Given the description of an element on the screen output the (x, y) to click on. 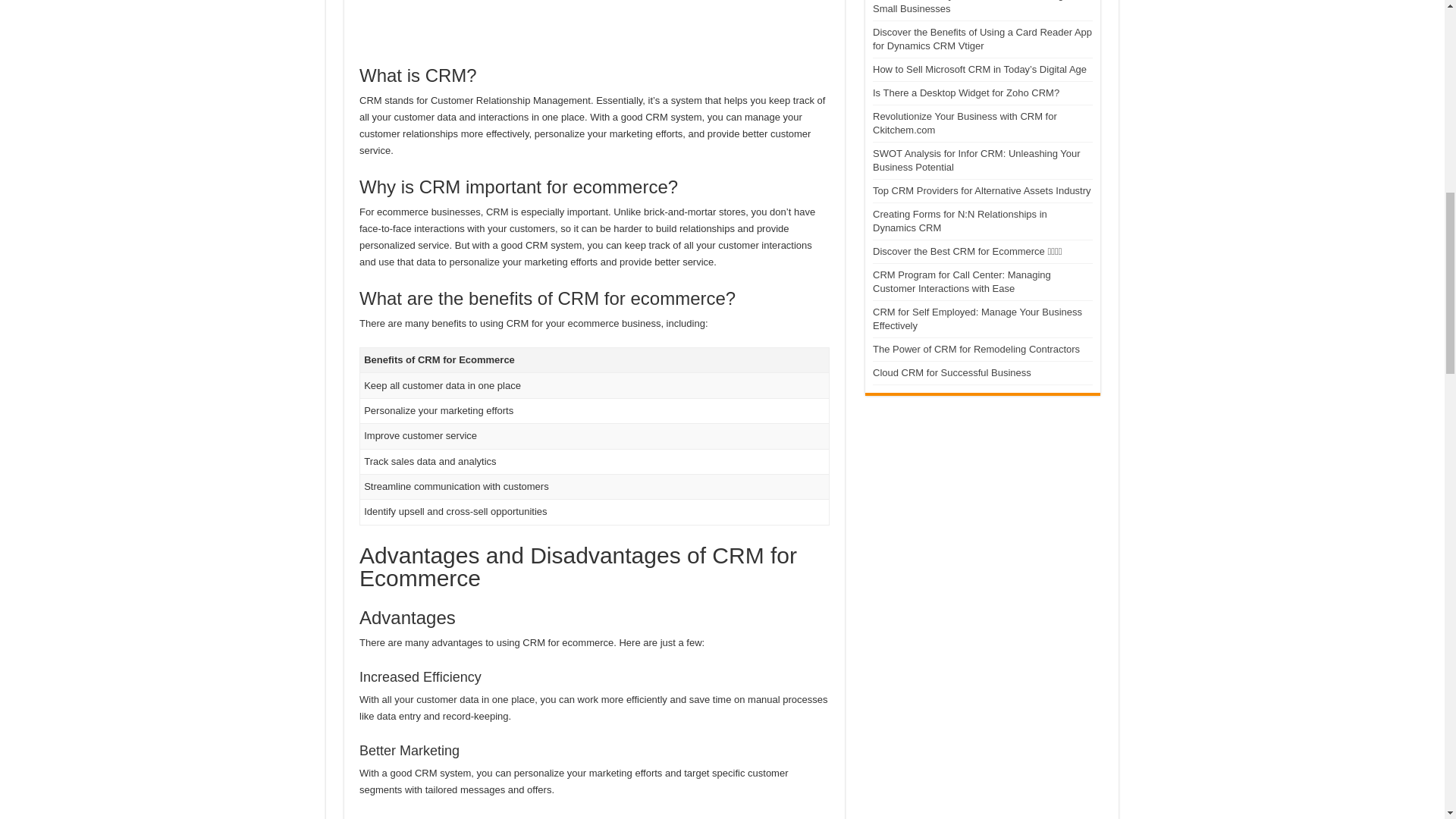
Creating Forms for N:N Relationships in Dynamics CRM (959, 220)
Top CRM Providers for Alternative Assets Industry (981, 190)
Advertisement (594, 23)
Revolutionize Your Business with CRM for Ckitchem.com (964, 122)
Is There a Desktop Widget for Zoho CRM? (965, 92)
